Given the description of an element on the screen output the (x, y) to click on. 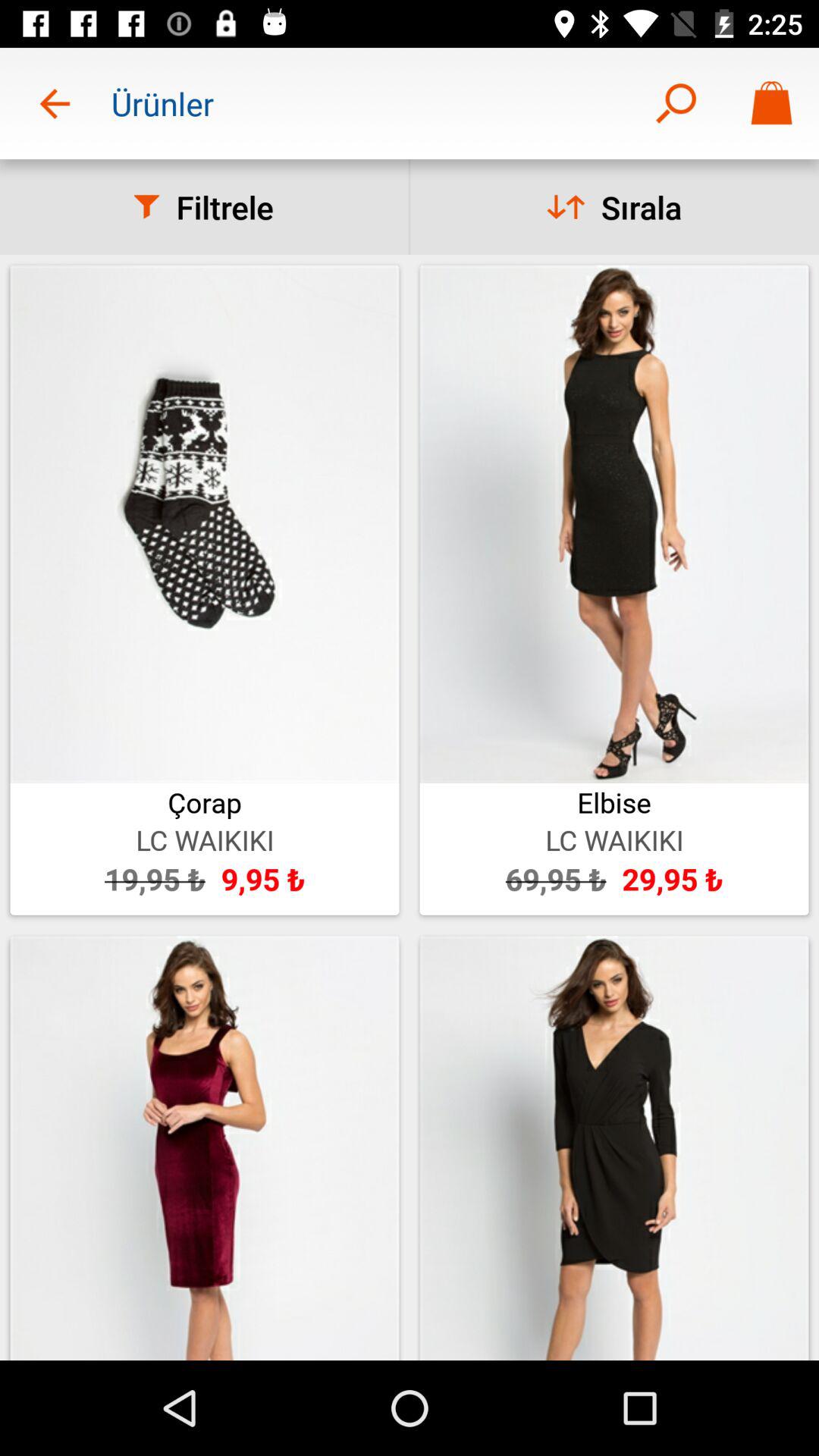
click on the image which says elbise (614, 589)
go to fourth option (614, 1147)
select image above back button (204, 1147)
